Given the description of an element on the screen output the (x, y) to click on. 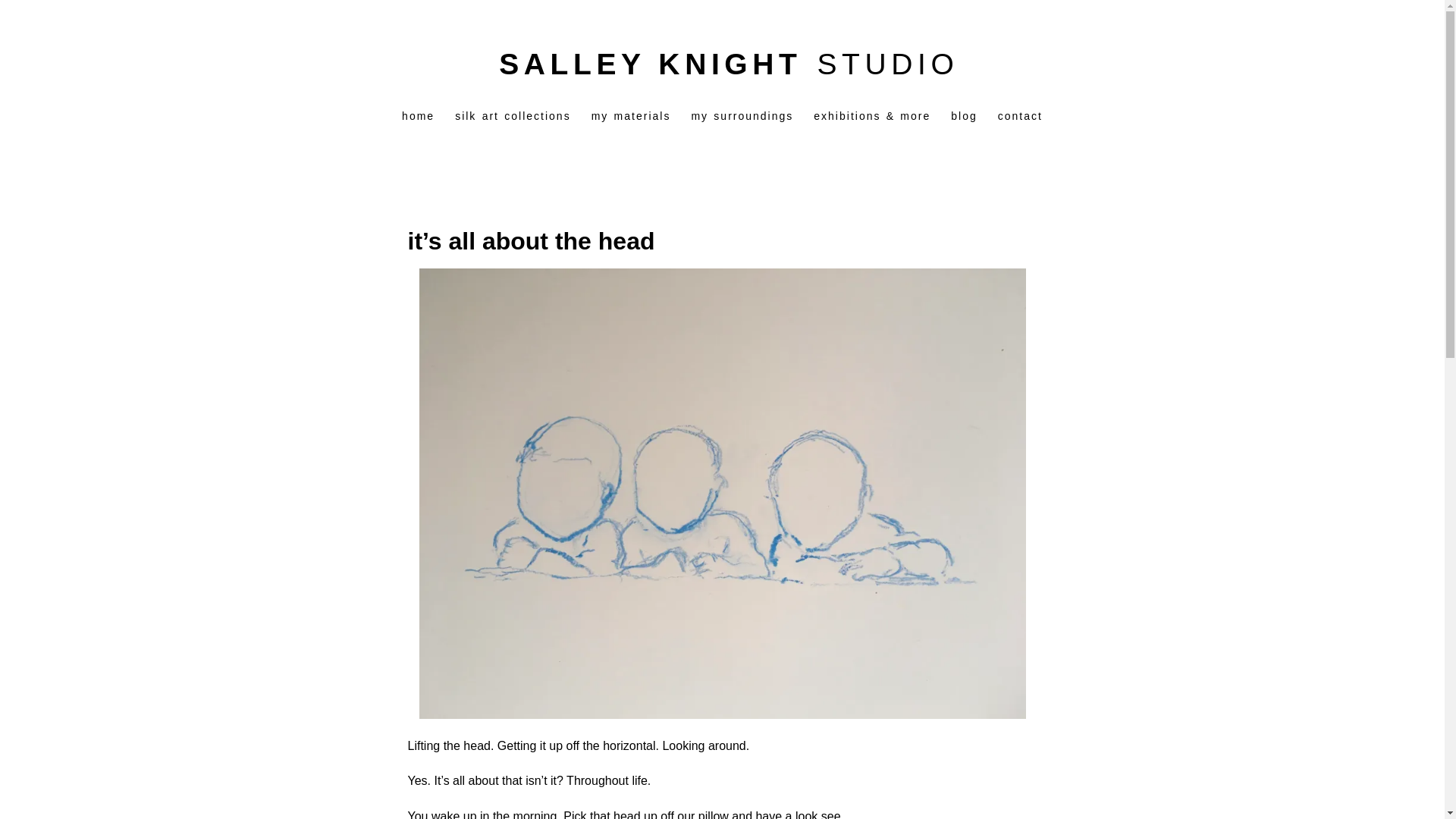
home (418, 115)
my materials (630, 115)
my surroundings (741, 115)
blog (963, 115)
silk art collections (512, 115)
contact (1019, 115)
